Given the description of an element on the screen output the (x, y) to click on. 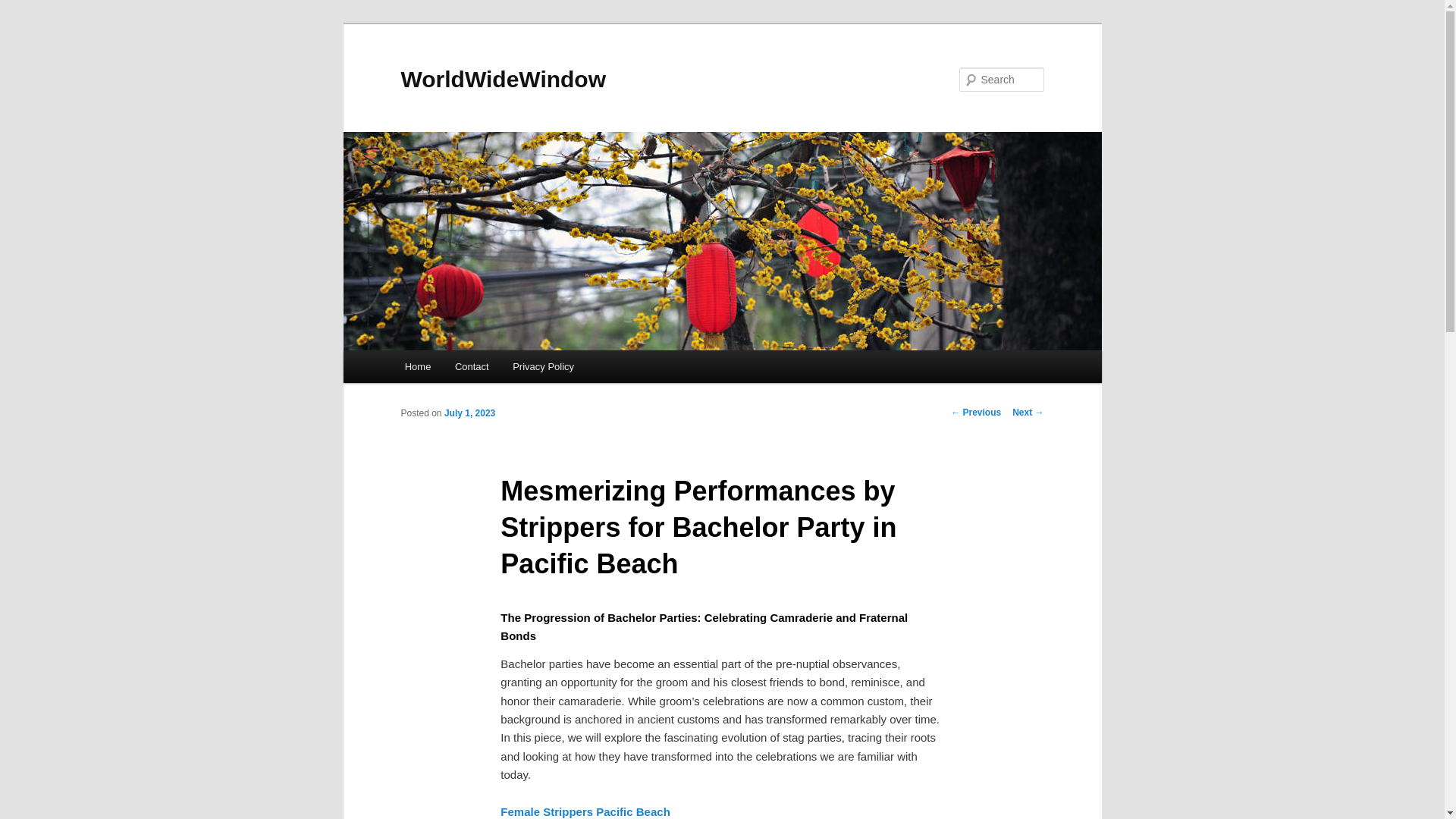
WorldWideWindow (502, 78)
Privacy Policy (542, 366)
July 1, 2023 (469, 412)
10:19 pm (469, 412)
Search (24, 8)
Female Strippers Pacific Beach (584, 811)
Home (417, 366)
Contact (471, 366)
